Given the description of an element on the screen output the (x, y) to click on. 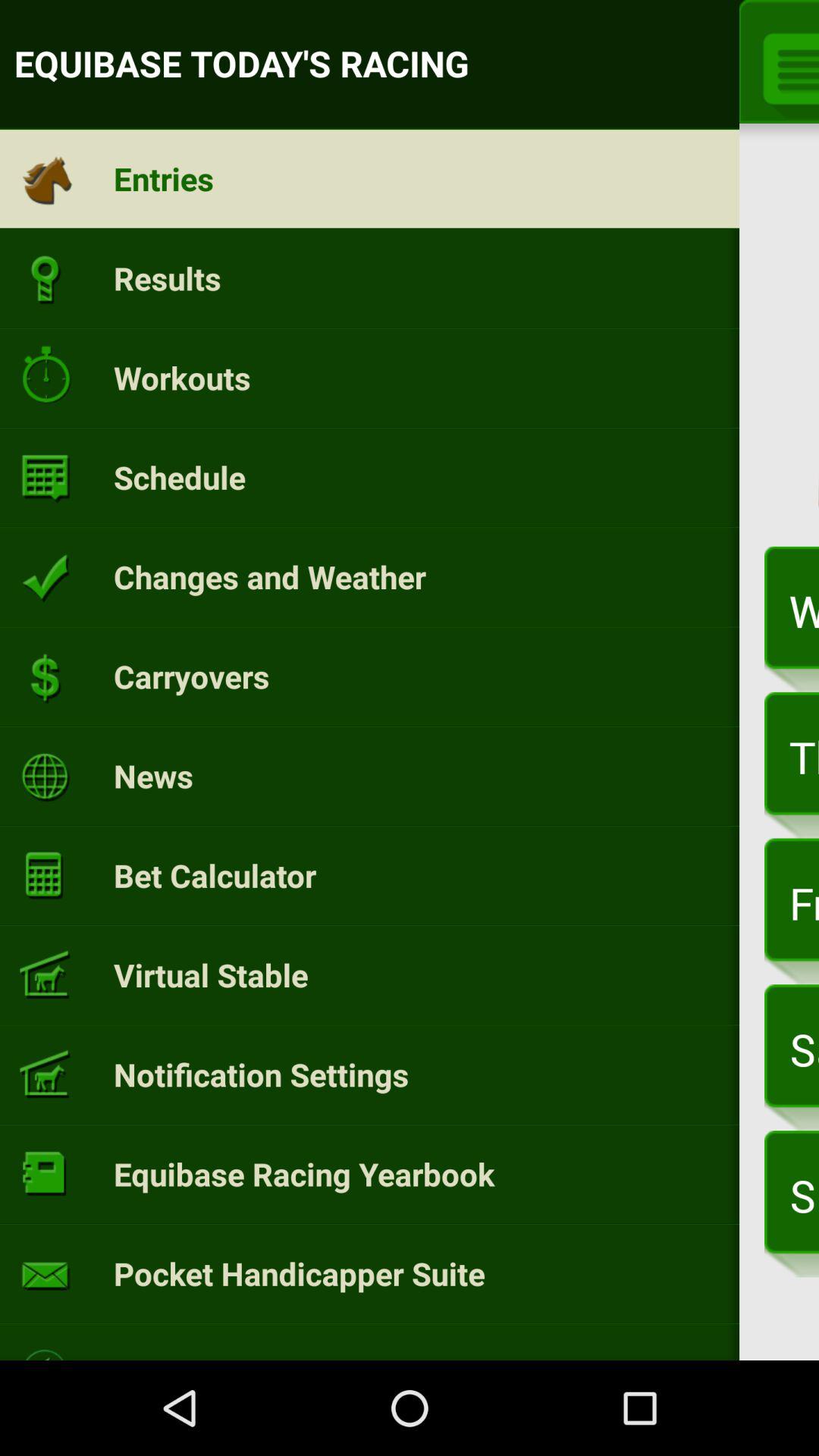
turn off the entries app (163, 178)
